Given the description of an element on the screen output the (x, y) to click on. 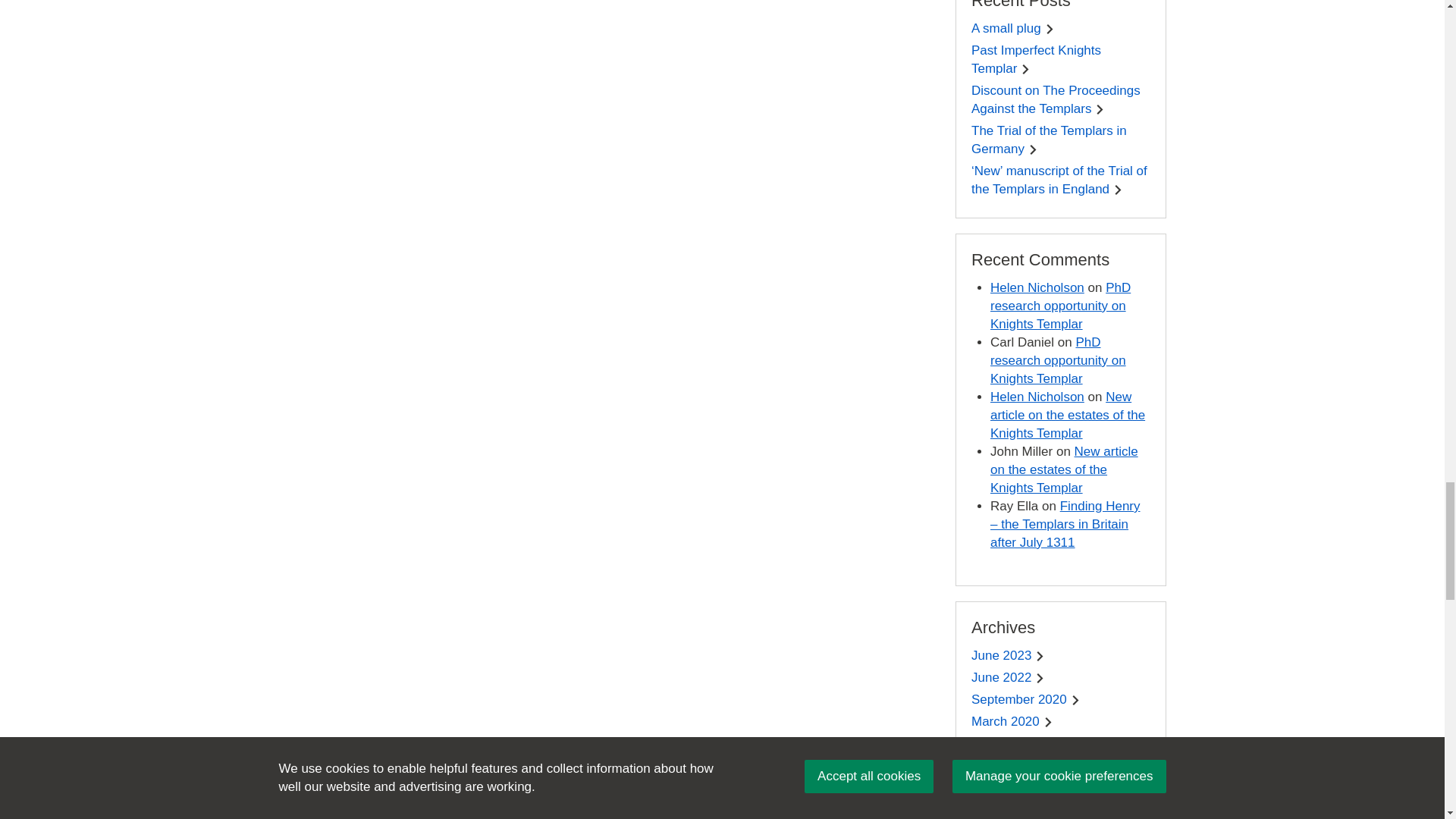
Chevron right (1051, 766)
Chevron right (1032, 149)
Chevron right (1051, 787)
Chevron right (1040, 655)
Chevron right (1025, 69)
Chevron right (1051, 744)
Chevron right (1075, 700)
Chevron right (1099, 109)
Chevron right (1117, 189)
Chevron right (1035, 809)
